Given the description of an element on the screen output the (x, y) to click on. 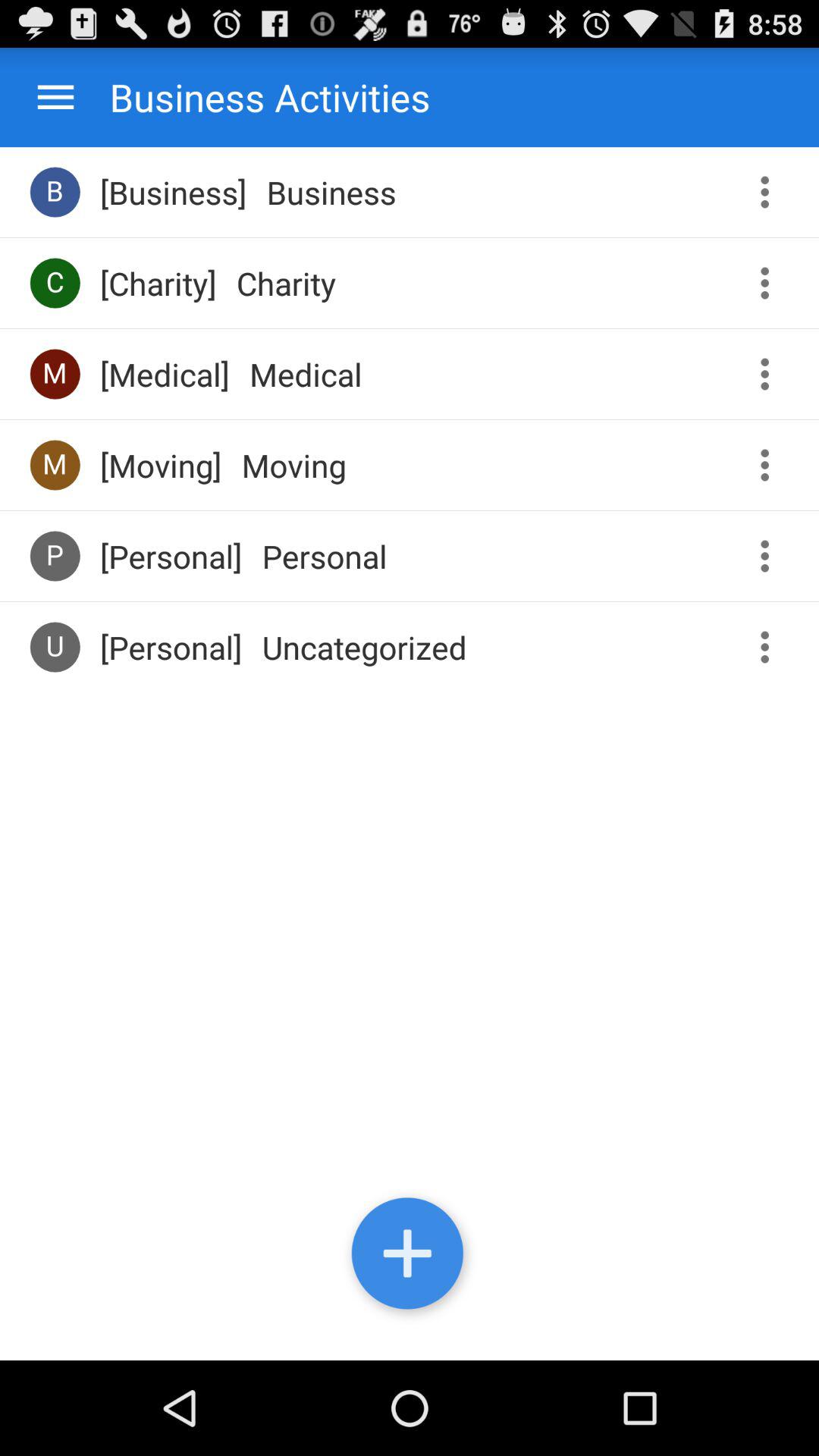
view more (770, 556)
